Given the description of an element on the screen output the (x, y) to click on. 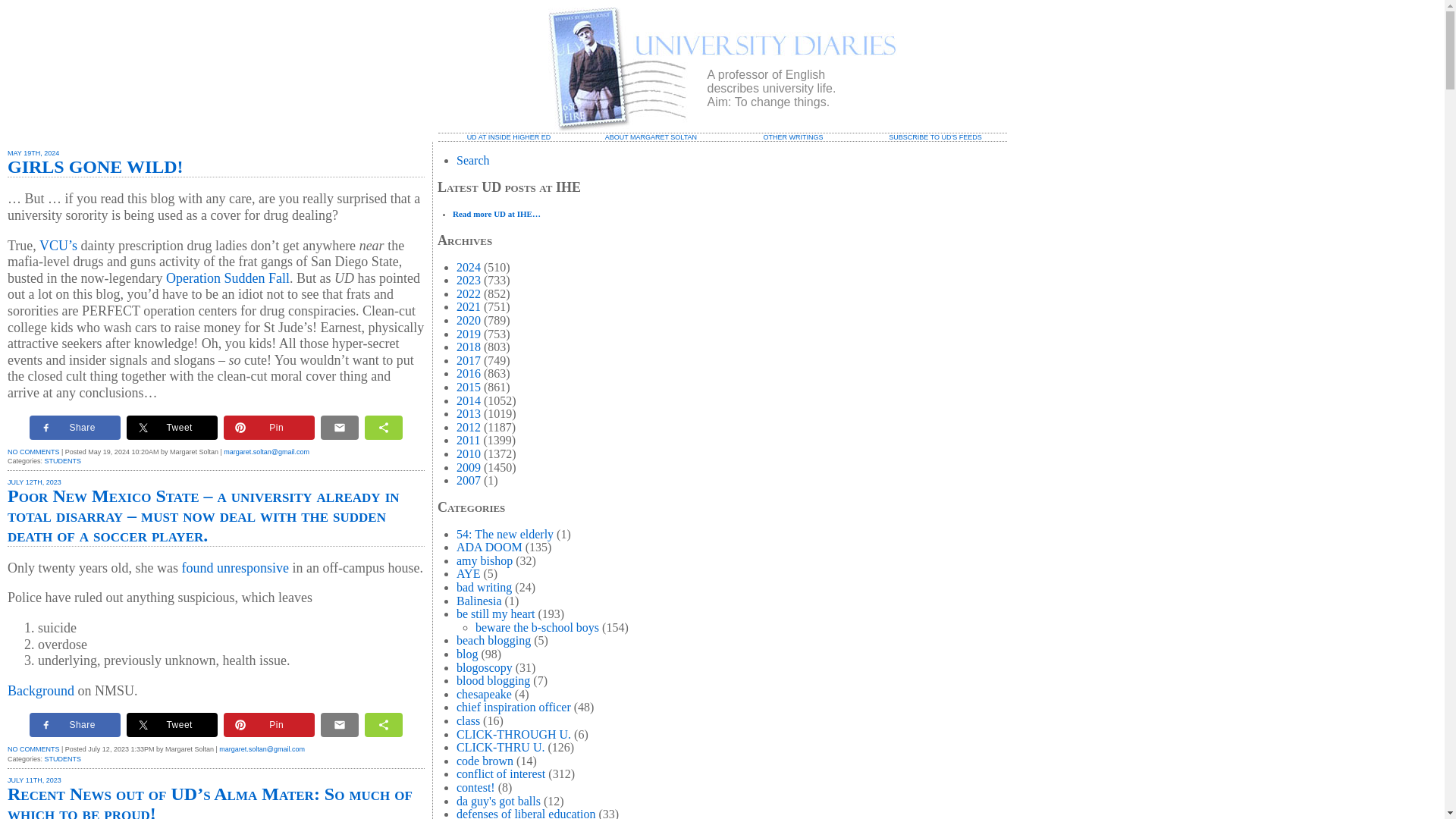
STUDENTS (63, 758)
MAY 19TH, 2024 (33, 153)
Background (40, 690)
OTHER WRITINGS (792, 136)
Permanent Link for GIRLS GONE WILD! (95, 166)
NO COMMENTS (33, 451)
GIRLS GONE WILD! (95, 166)
found unresponsive (234, 567)
JULY 12TH, 2023 (34, 482)
STUDENTS (63, 461)
